Given the description of an element on the screen output the (x, y) to click on. 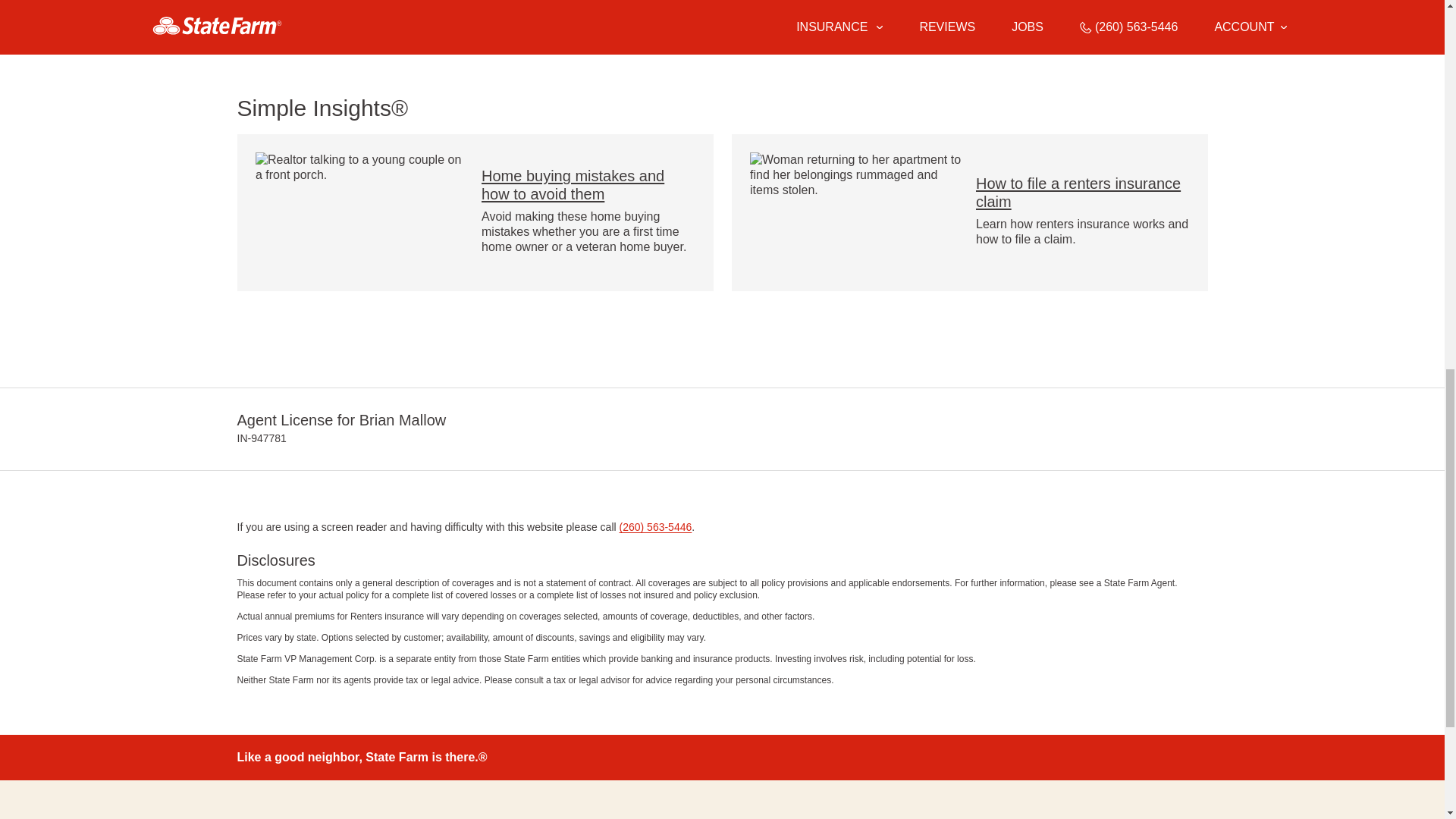
FAQ page (478, 38)
